Given the description of an element on the screen output the (x, y) to click on. 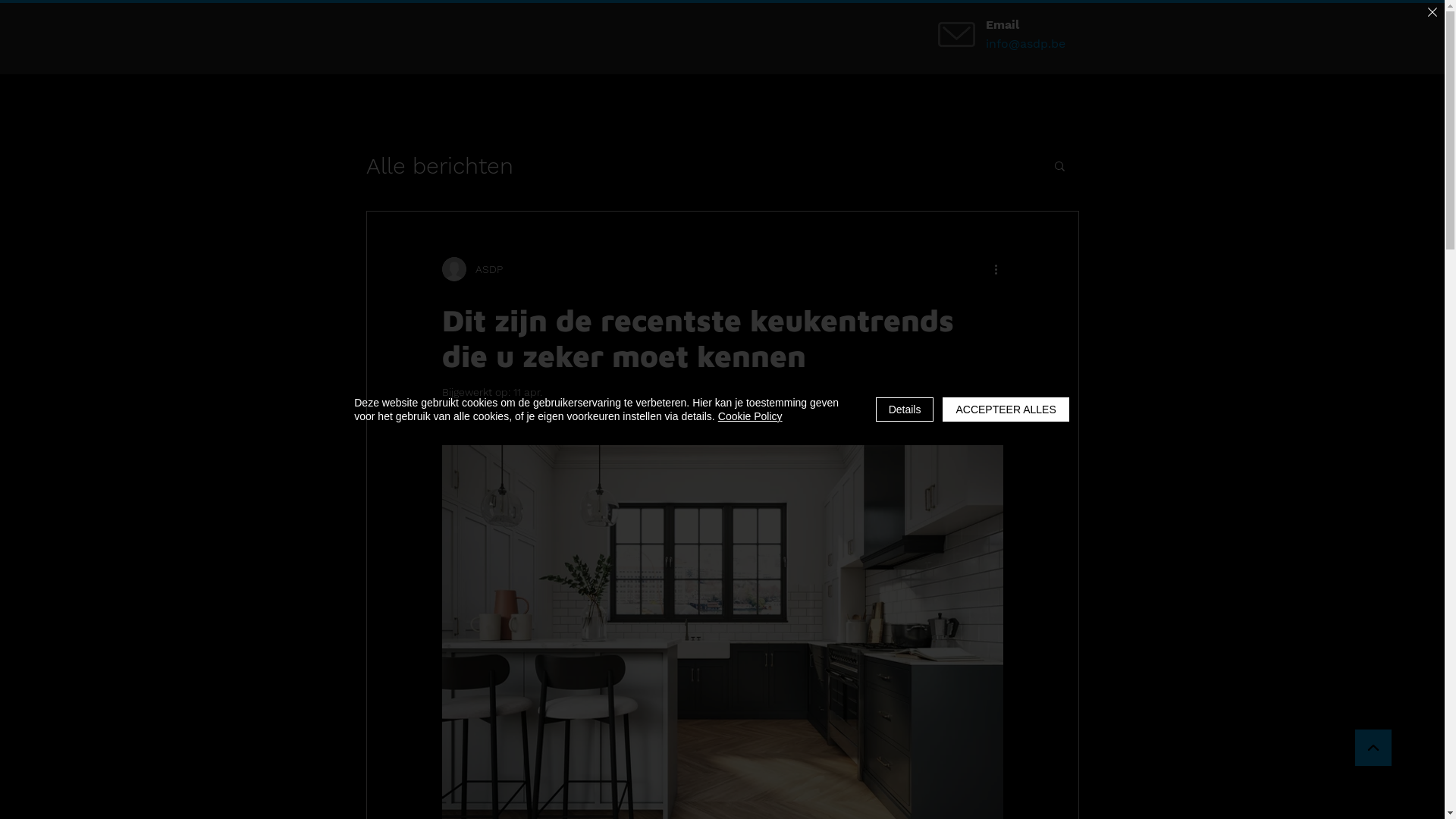
ACCEPTEER ALLES Element type: text (1005, 409)
Cookie Policy Element type: text (750, 416)
Alle berichten Element type: text (438, 164)
info@asdp.be Element type: text (1039, 43)
Details Element type: text (904, 409)
